Given the description of an element on the screen output the (x, y) to click on. 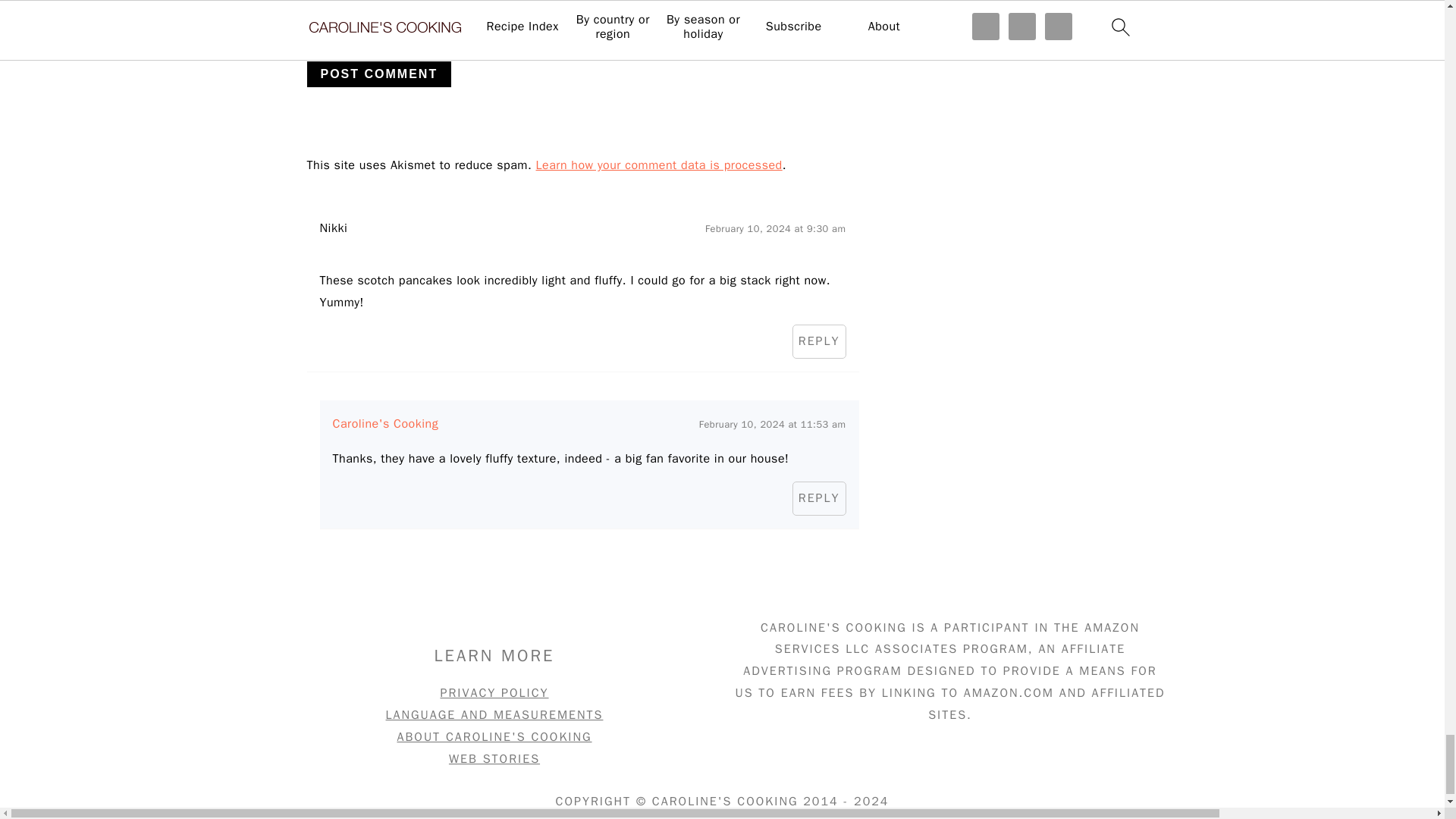
Post Comment (378, 73)
